Given the description of an element on the screen output the (x, y) to click on. 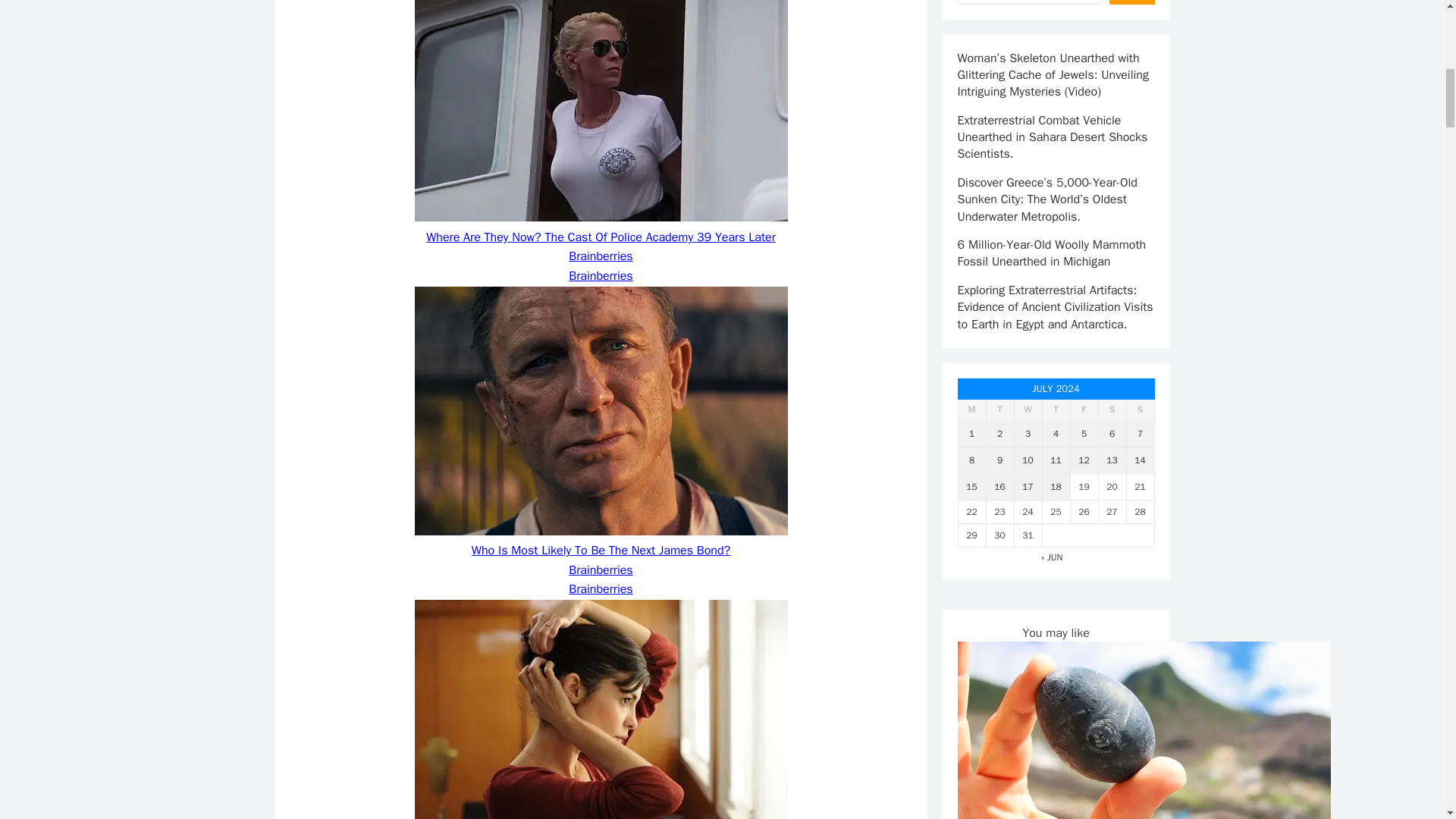
Thursday (1056, 409)
Wednesday (1027, 409)
Tuesday (999, 409)
Monday (971, 409)
Friday (1083, 409)
